Given the description of an element on the screen output the (x, y) to click on. 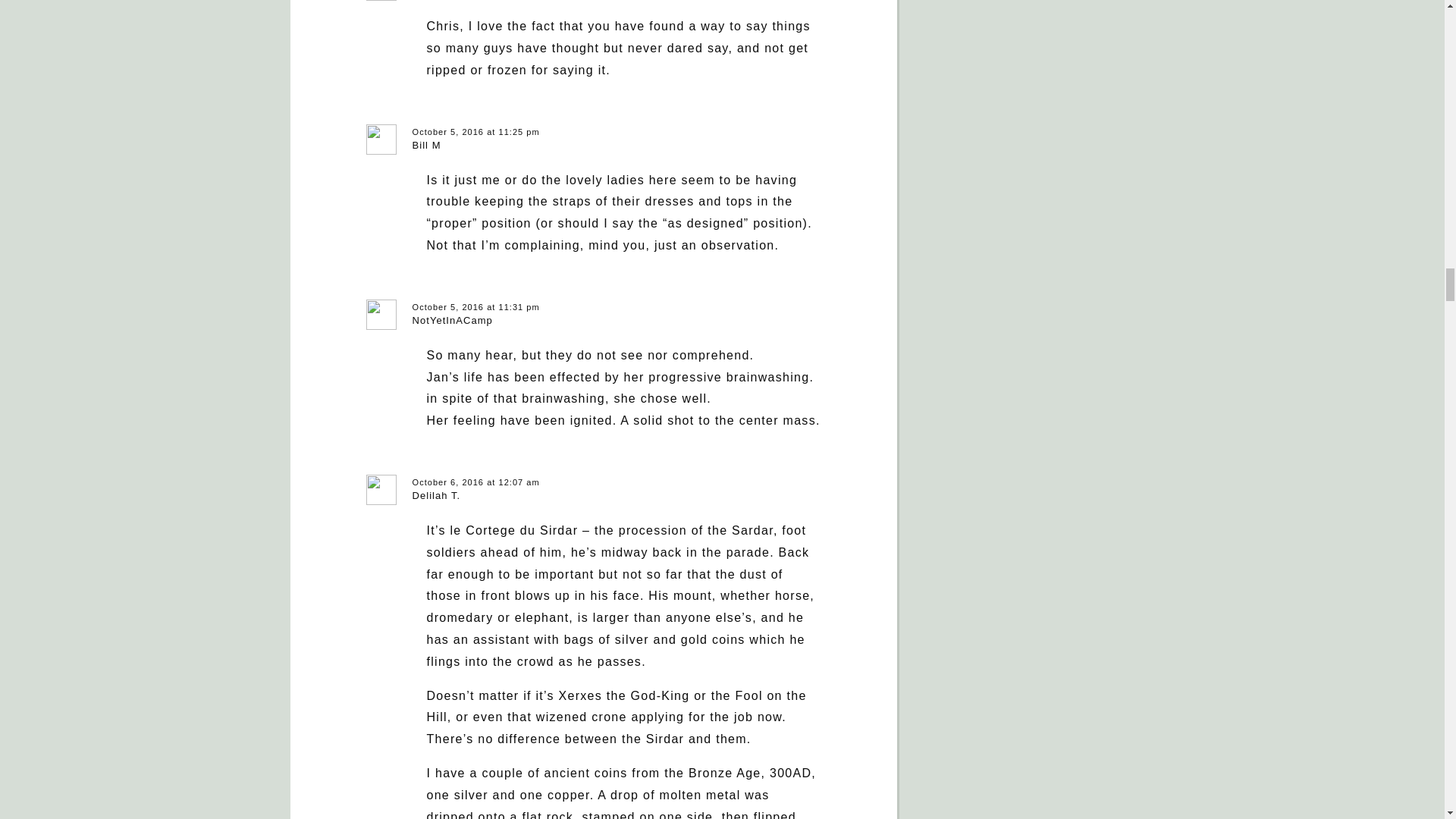
Delilah T. (436, 495)
